Given the description of an element on the screen output the (x, y) to click on. 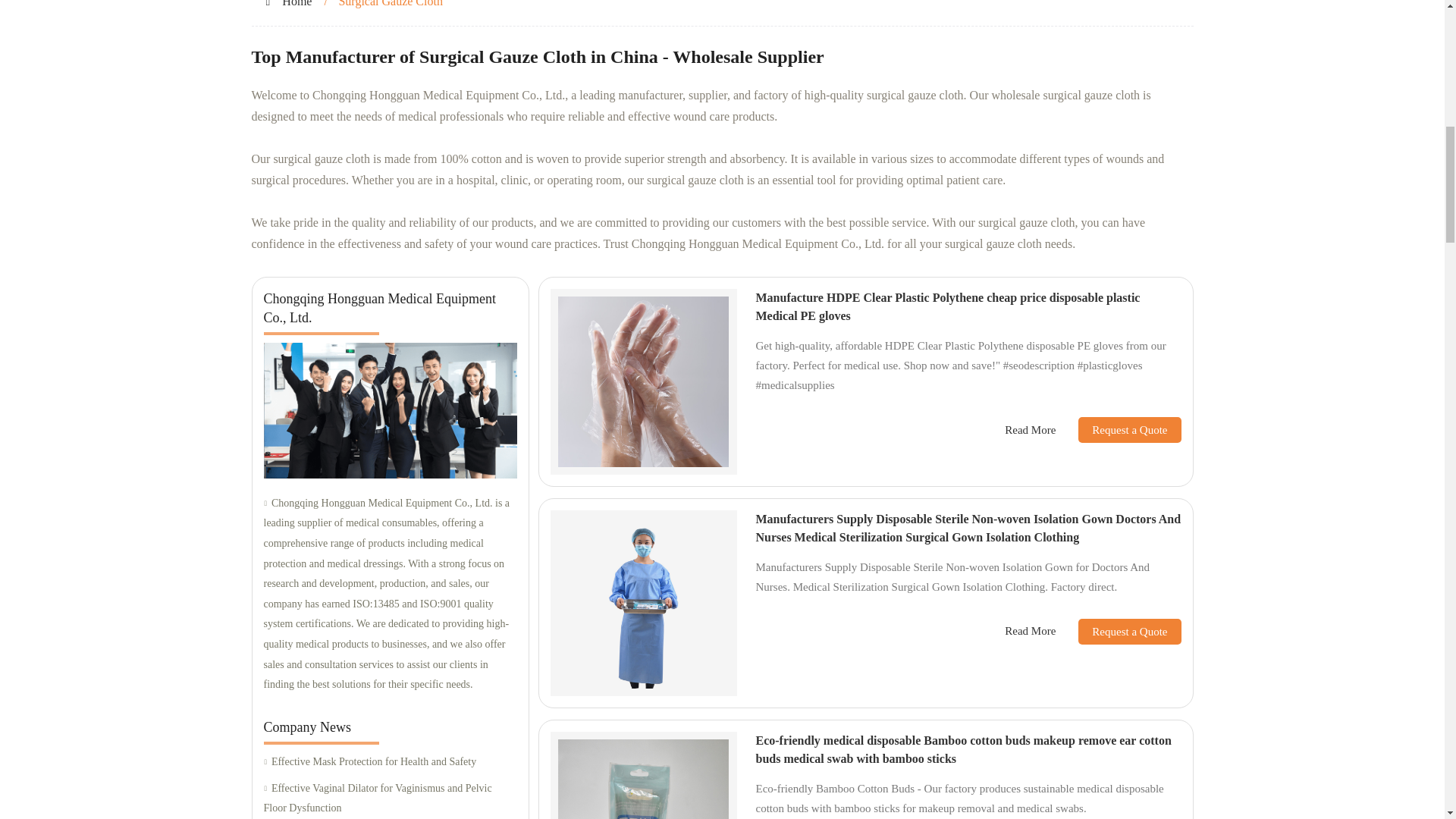
Read More (1029, 429)
Request a Quote (1117, 631)
Home (296, 3)
Request a Quote (1117, 429)
Effective Mask Protection for Health and Safety (389, 762)
Read More (1029, 630)
